Given the description of an element on the screen output the (x, y) to click on. 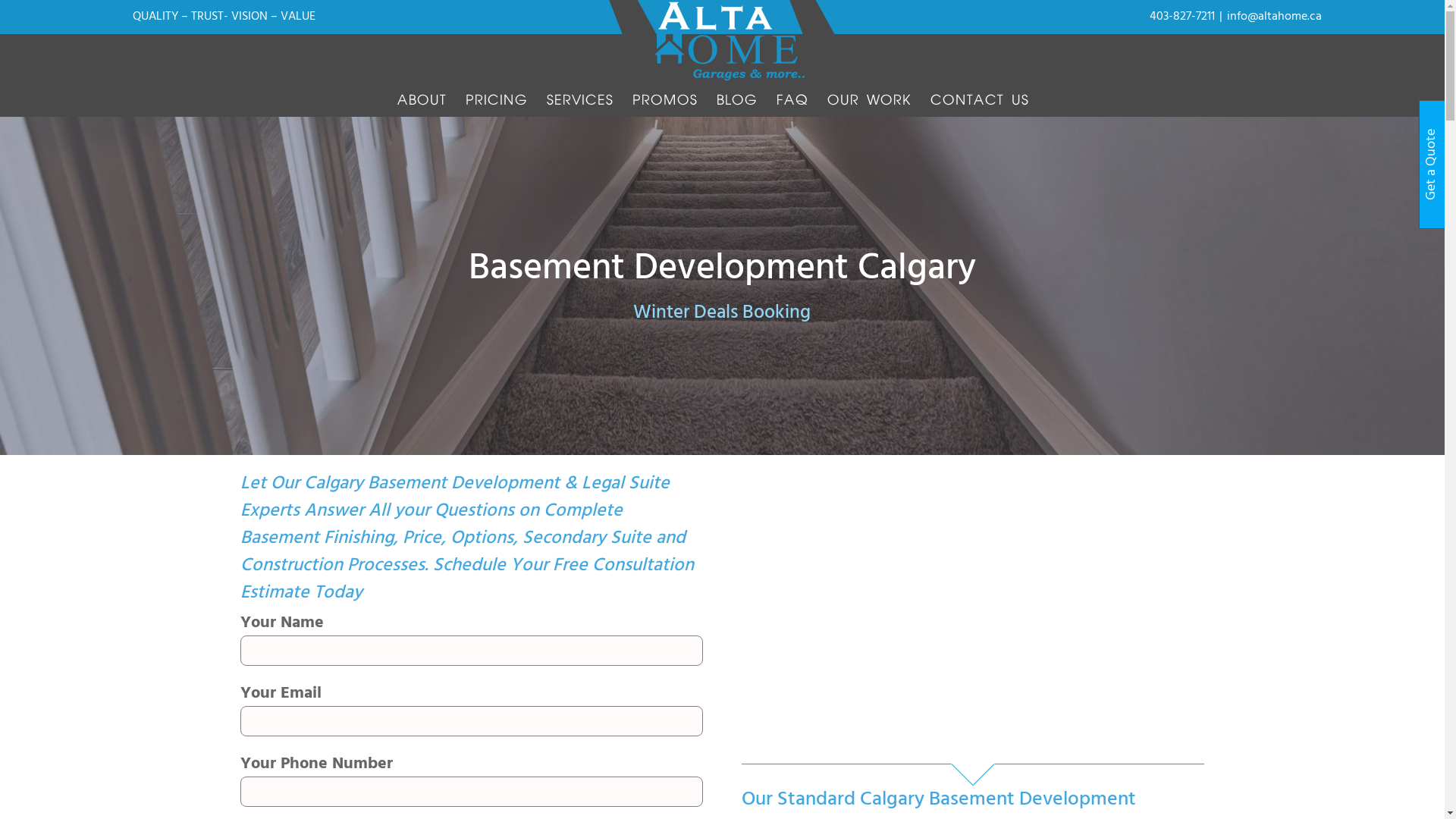
Vimeo video player 1 Element type: hover (968, 606)
403-827-7211 Element type: text (1181, 16)
CONTACT US Element type: text (978, 100)
OUR WORK Element type: text (868, 100)
FAQ Element type: text (792, 100)
ABOUT Element type: text (421, 100)
BLOG Element type: text (735, 100)
PROMOS Element type: text (664, 100)
info@altahome.ca Element type: text (1273, 16)
PRICING Element type: text (496, 100)
SERVICES Element type: text (579, 100)
